Given the description of an element on the screen output the (x, y) to click on. 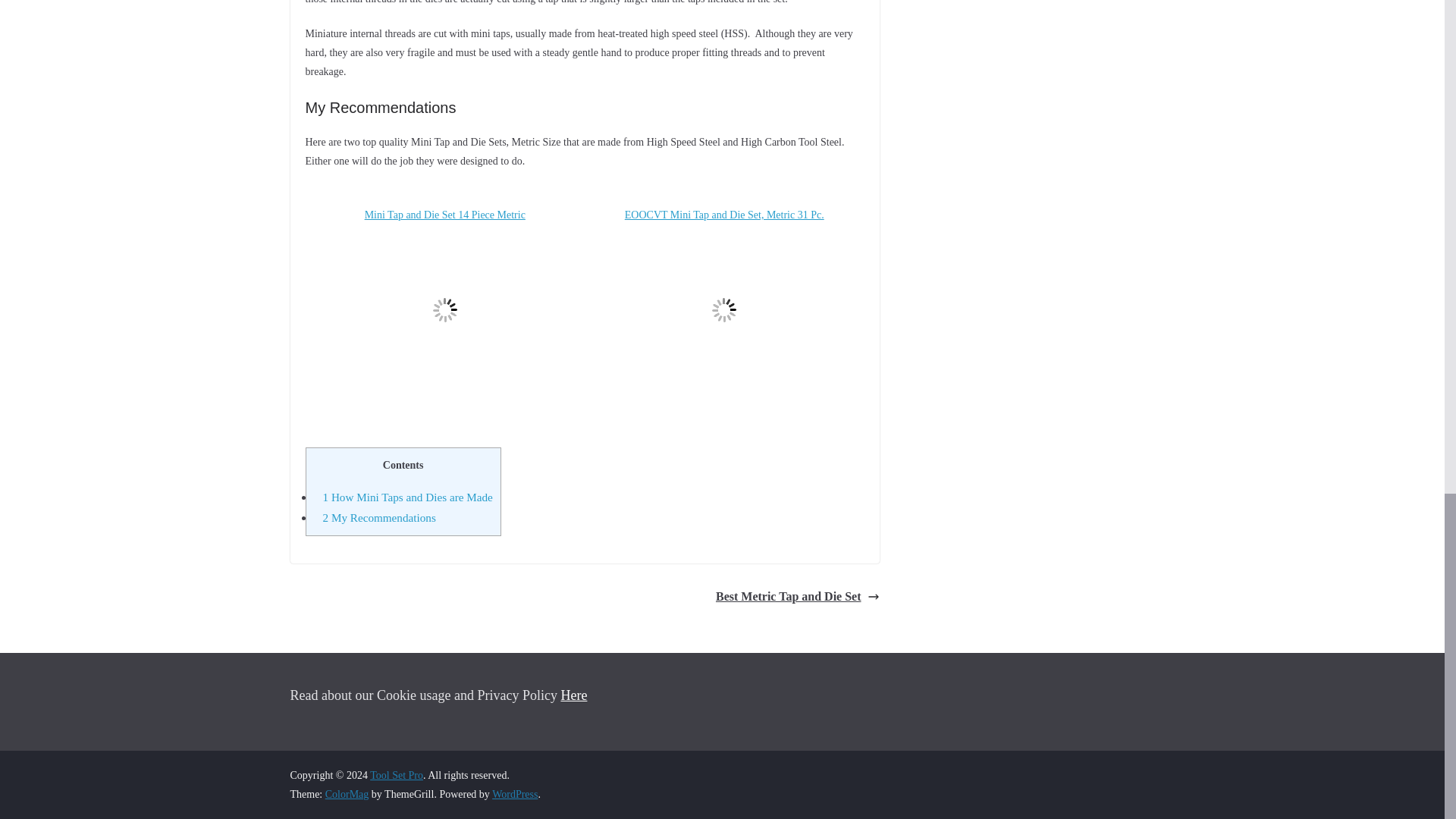
WordPress (514, 794)
2 My Recommendations (379, 517)
ColorMag (346, 794)
Best Metric Tap and Die Set (797, 597)
EOOCVT Mini Tap and Die Set, Metric 31 Pc. (724, 308)
WordPress (514, 794)
ColorMag (346, 794)
Tool Set Pro (396, 775)
Mini Tap and Die Set 14 Piece Metric (444, 308)
Tool Set Pro (396, 775)
